Given the description of an element on the screen output the (x, y) to click on. 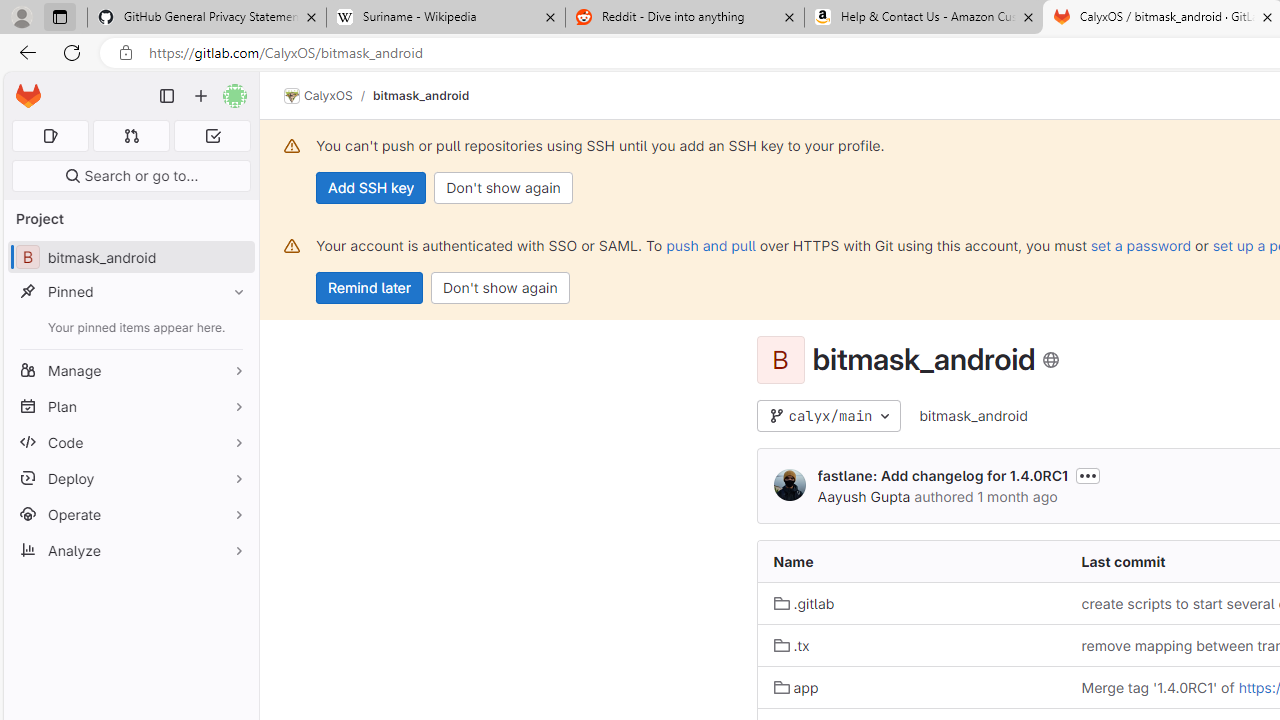
B bitmask_android (130, 257)
push and pull (710, 245)
Bbitmask_android (130, 257)
Analyze (130, 550)
Help & Contact Us - Amazon Customer Service (924, 17)
Deploy (130, 478)
GitHub General Privacy Statement - GitHub Docs (207, 17)
Pinned (130, 291)
Analyze (130, 550)
Suriname - Wikipedia (445, 17)
.tx (791, 645)
Code (130, 442)
